Given the description of an element on the screen output the (x, y) to click on. 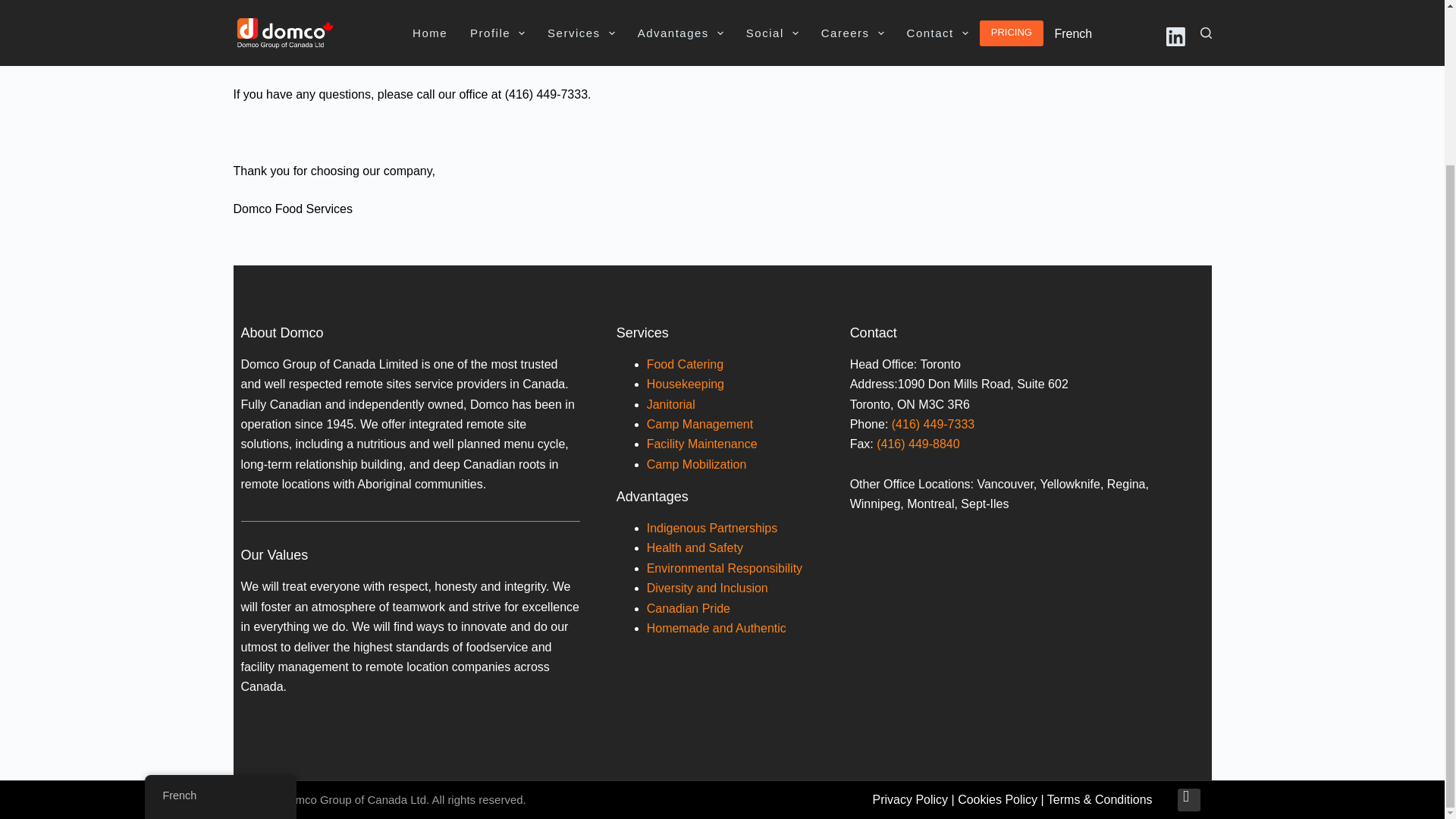
1090 Don Mills Road Suite 602 Toronto, ON M3C 3R6 (1023, 624)
